Given the description of an element on the screen output the (x, y) to click on. 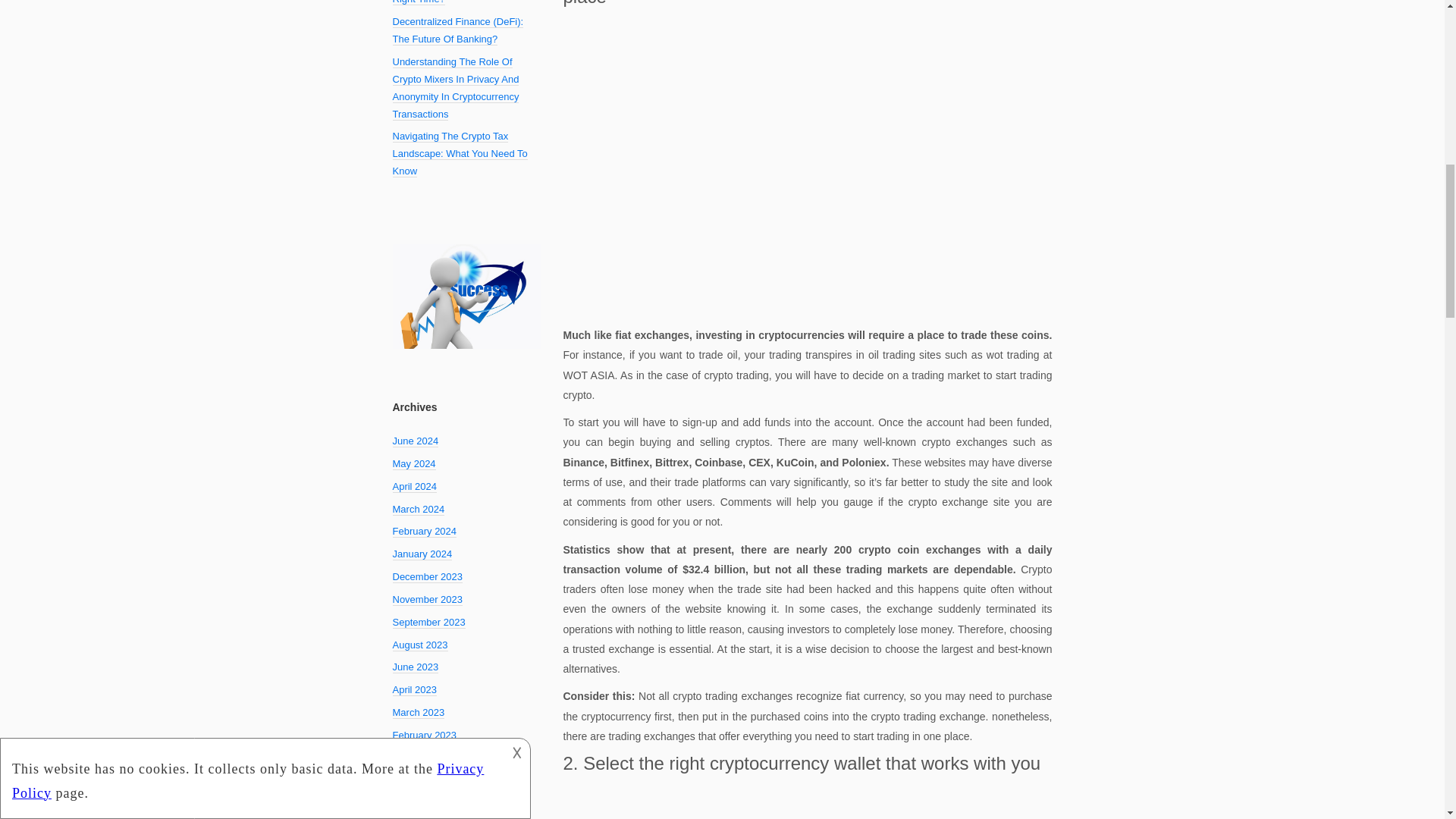
December 2023 (428, 576)
September 2023 (429, 622)
June 2024 (416, 440)
January 2024 (422, 553)
April 2024 (415, 486)
March 2024 (419, 509)
May 2024 (414, 463)
June 2023 (416, 666)
August 2023 (420, 645)
April 2023 (415, 689)
November 2023 (428, 599)
Navigating The Crypto Tax Landscape: What You Need To Know (460, 153)
Top 5 Best Cryptocurrency Wallets (806, 800)
